Given the description of an element on the screen output the (x, y) to click on. 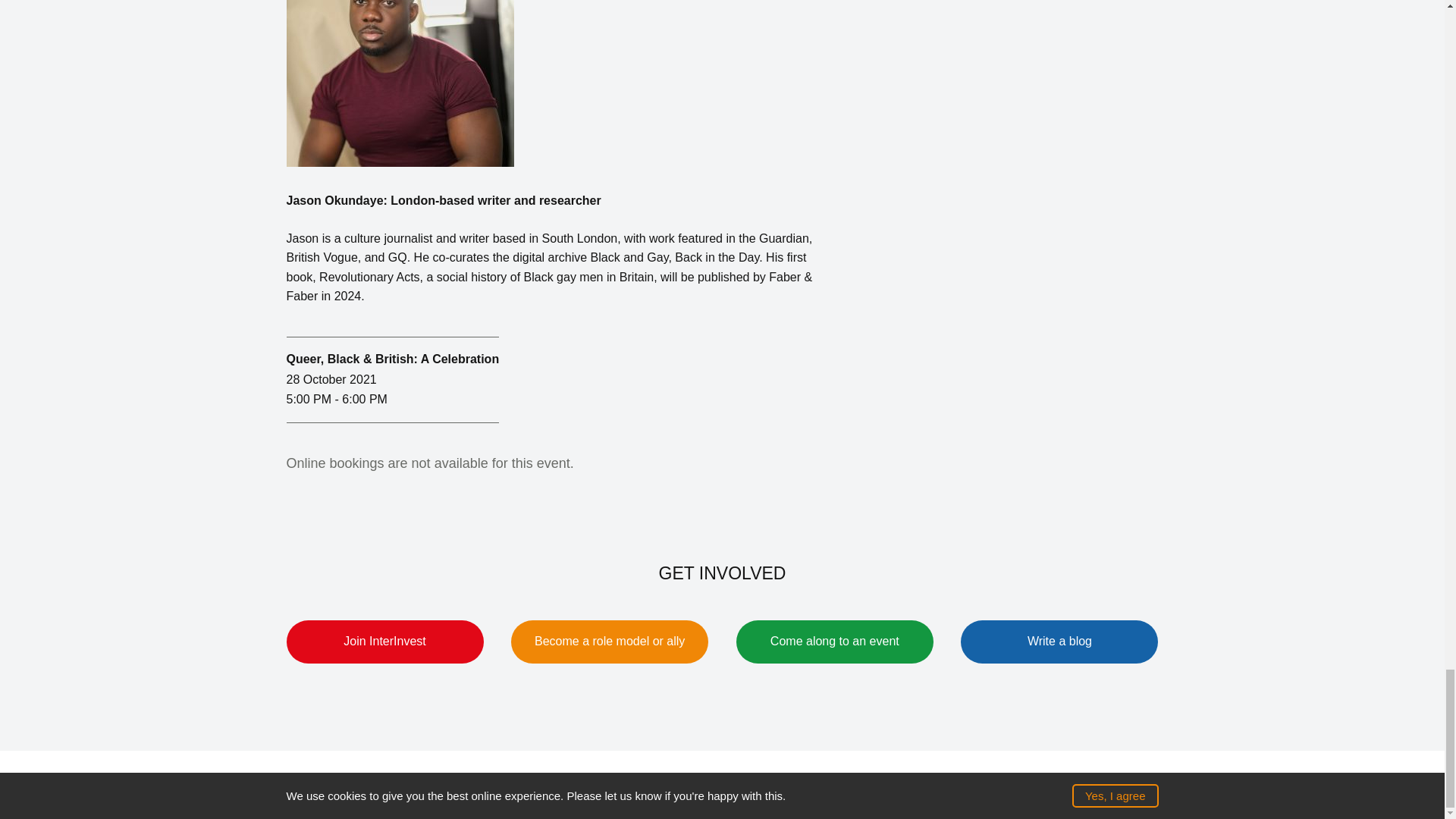
Become a role model or ally (609, 641)
Write a blog (1058, 641)
Privacy and cookie policy (793, 783)
Racial Equity Work Stream (958, 783)
Join InterInvest (384, 641)
Come along to an event (834, 641)
